Given the description of an element on the screen output the (x, y) to click on. 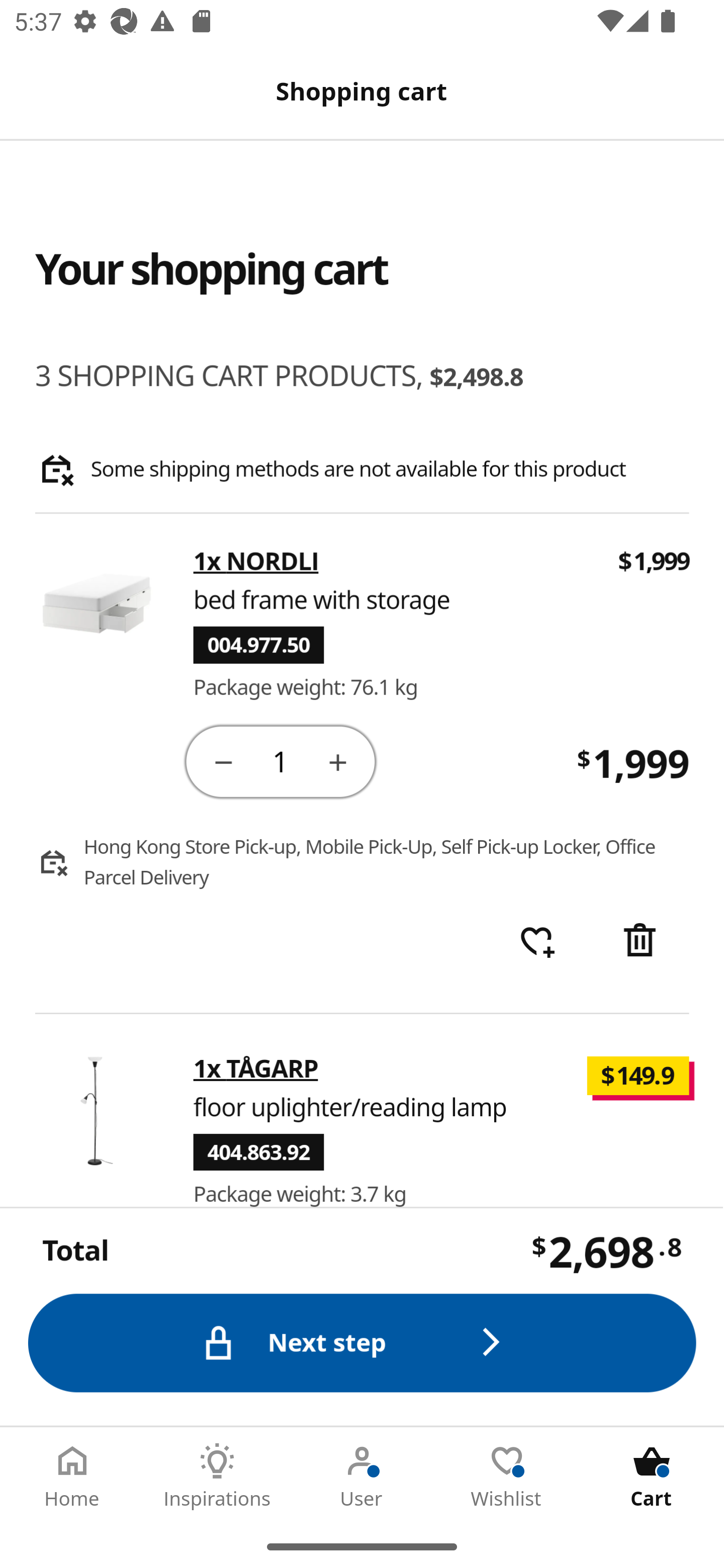
1x  NORDLI 1x  NORDLI (256, 561)
1 (281, 760)
 (223, 761)
 (338, 761)
  (536, 942)
 (641, 942)
1x  TÅGARP 1x  TÅGARP (256, 1068)
Home
Tab 1 of 5 (72, 1476)
Inspirations
Tab 2 of 5 (216, 1476)
User
Tab 3 of 5 (361, 1476)
Wishlist
Tab 4 of 5 (506, 1476)
Cart
Tab 5 of 5 (651, 1476)
